Given the description of an element on the screen output the (x, y) to click on. 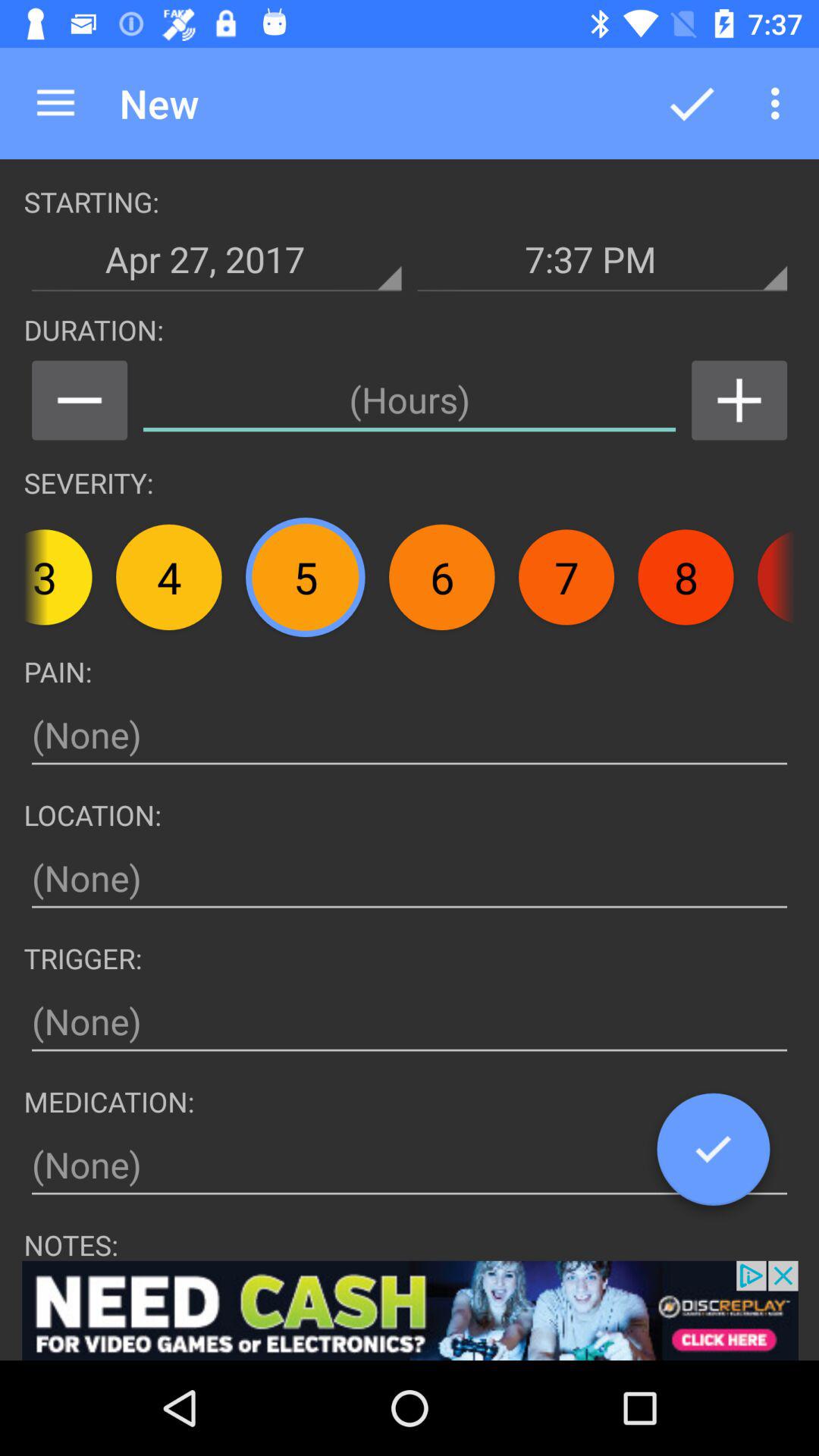
save log (713, 1155)
